Given the description of an element on the screen output the (x, y) to click on. 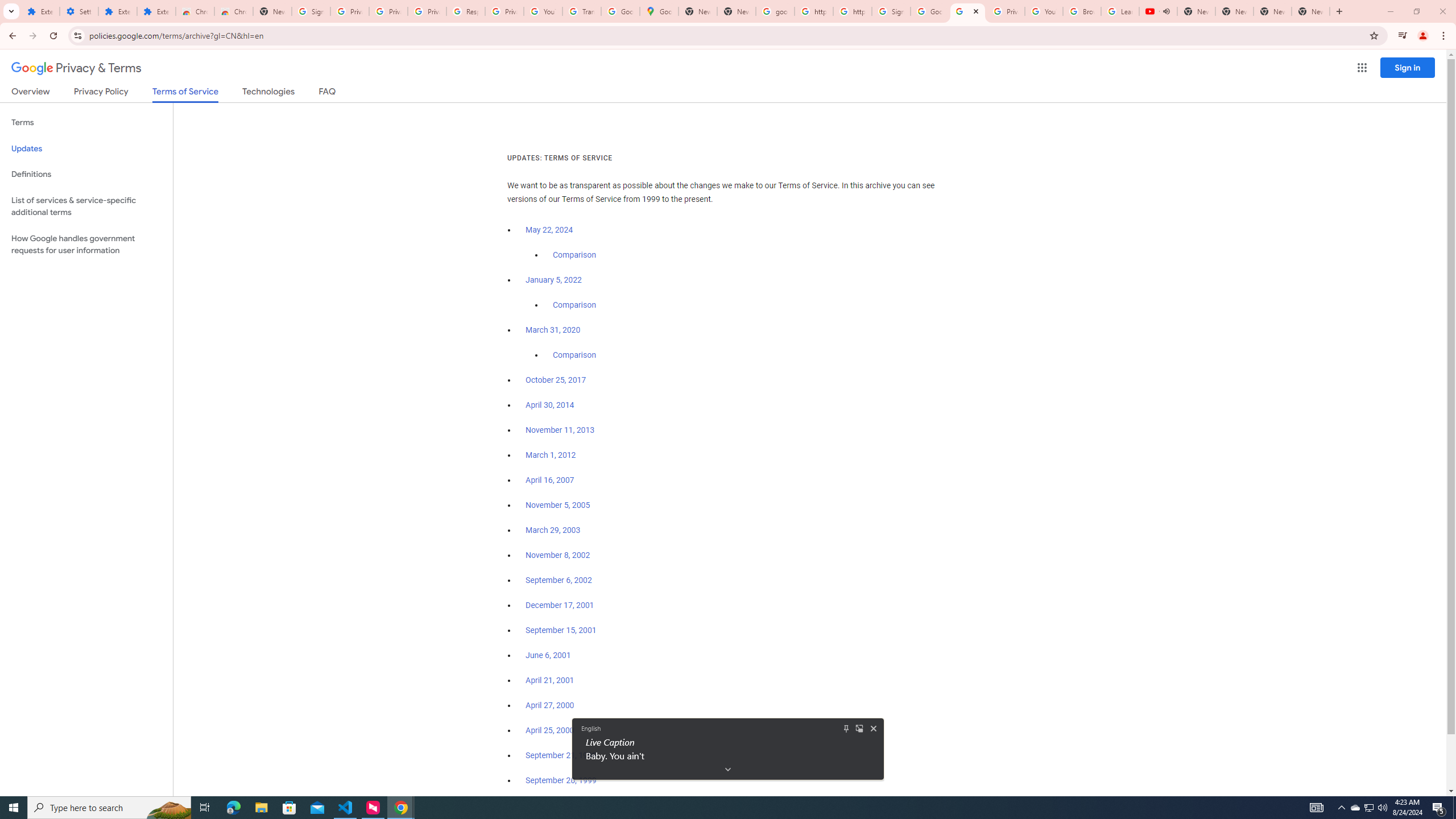
https://scholar.google.com/ (852, 11)
Chrome Web Store - Themes (233, 11)
AutomationID: 4105 (1316, 807)
Chrome Web Store (194, 11)
September 6, 2002 (558, 579)
March 31, 2020 (552, 330)
Q2790: 100% (1382, 807)
March 1, 2012 (550, 455)
List of services & service-specific additional terms (1355, 807)
Comparison (86, 206)
